Given the description of an element on the screen output the (x, y) to click on. 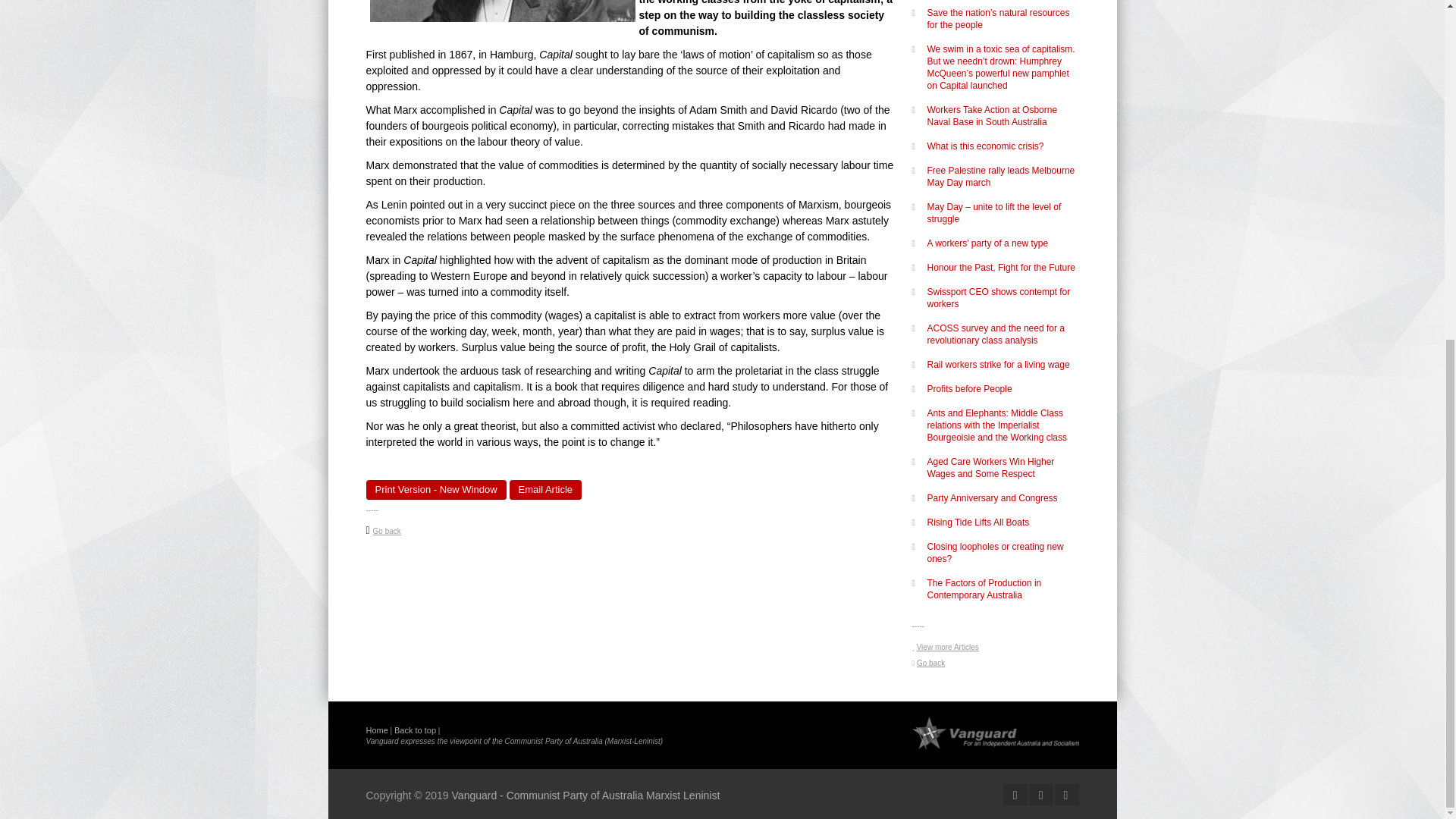
Share by Email (545, 489)
